Given the description of an element on the screen output the (x, y) to click on. 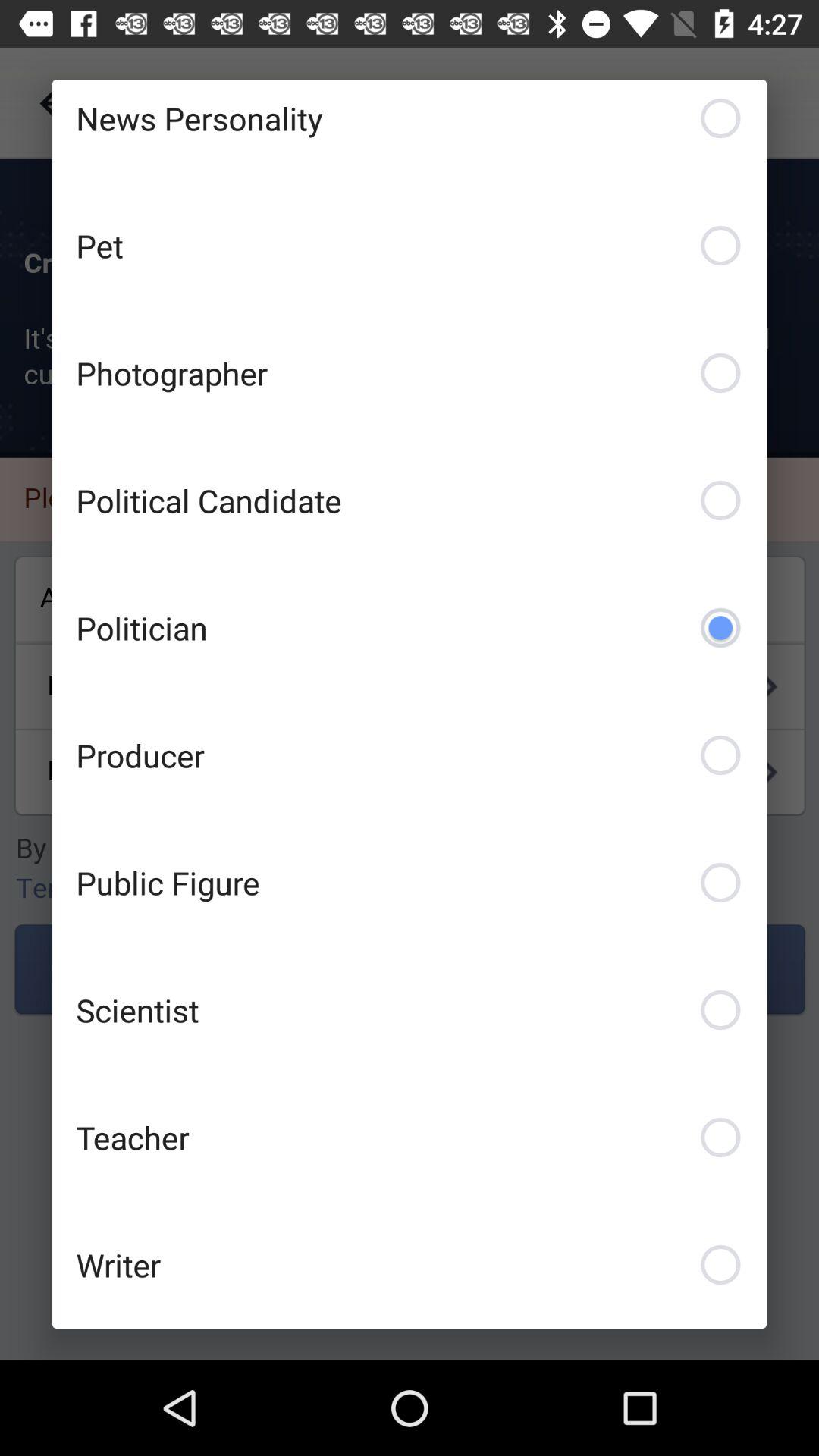
open the scientist item (409, 1009)
